Given the description of an element on the screen output the (x, y) to click on. 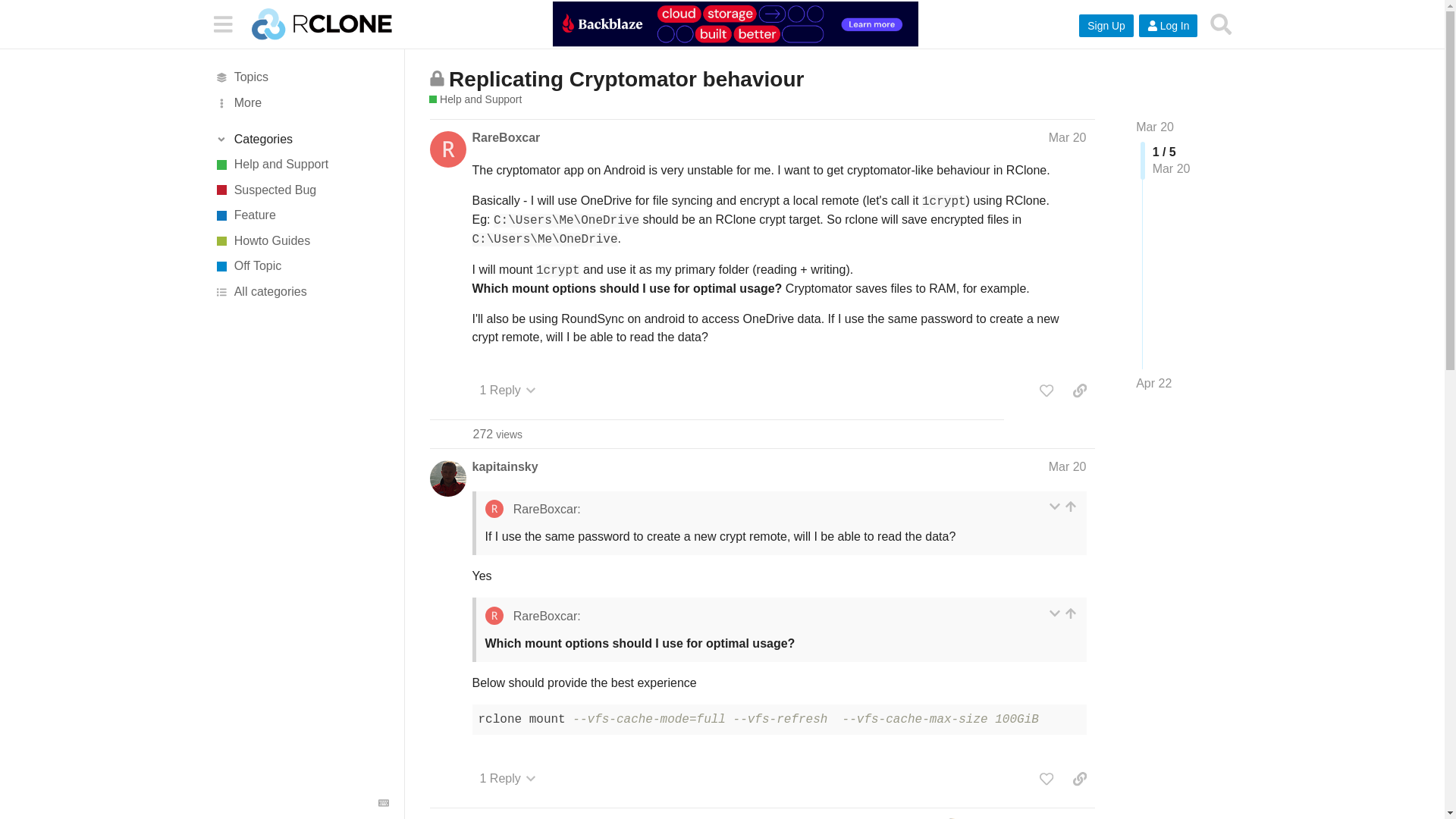
Help and Support (301, 164)
This topic is closed; it no longer accepts new replies (437, 78)
Topics (301, 77)
Off Topic (301, 266)
Categories (301, 139)
Suspected Bug (301, 190)
Sidebar (222, 23)
Log In (1168, 25)
Toggle section (301, 139)
